Given the description of an element on the screen output the (x, y) to click on. 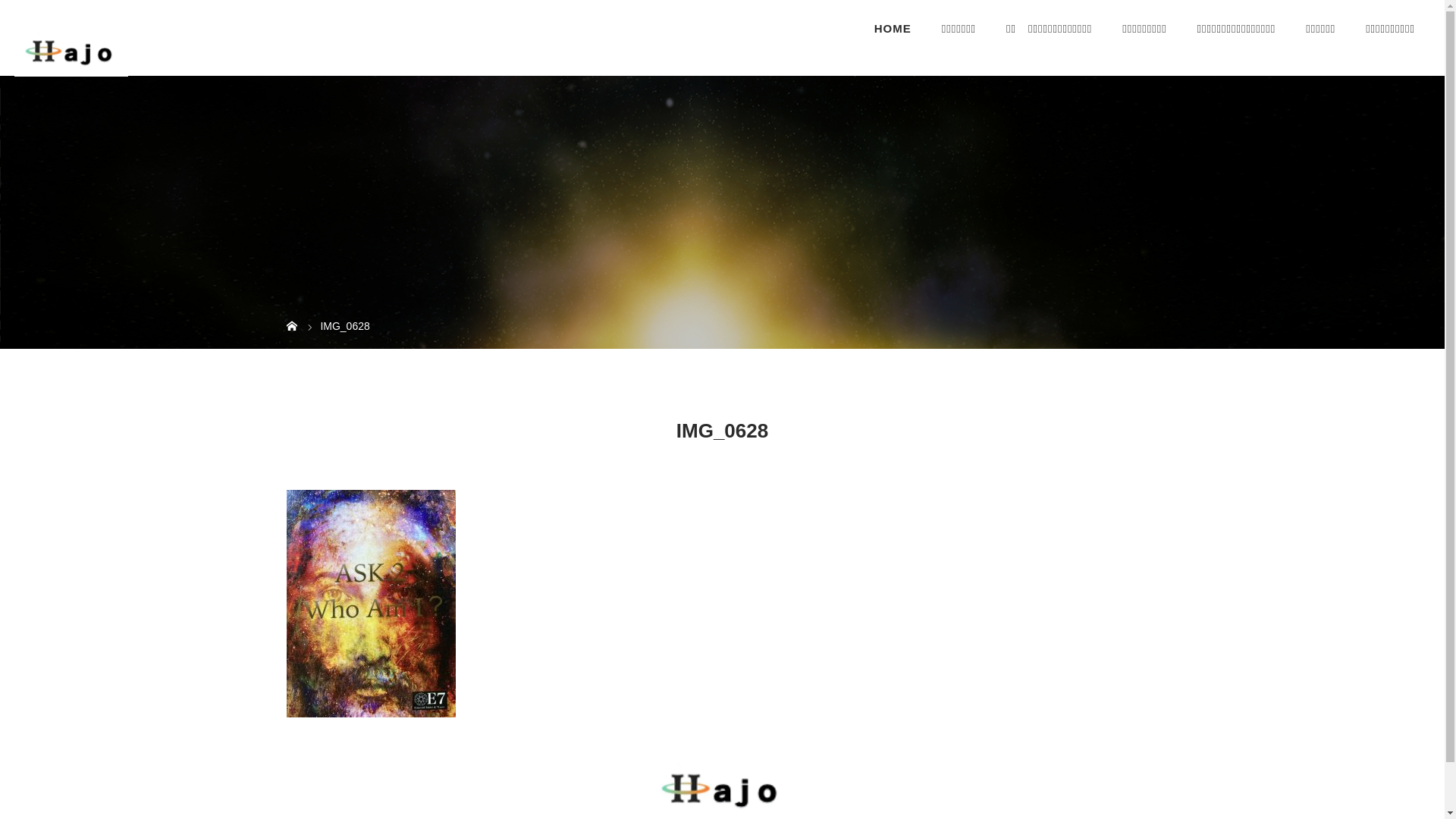
HOME Element type: text (892, 28)
